Given the description of an element on the screen output the (x, y) to click on. 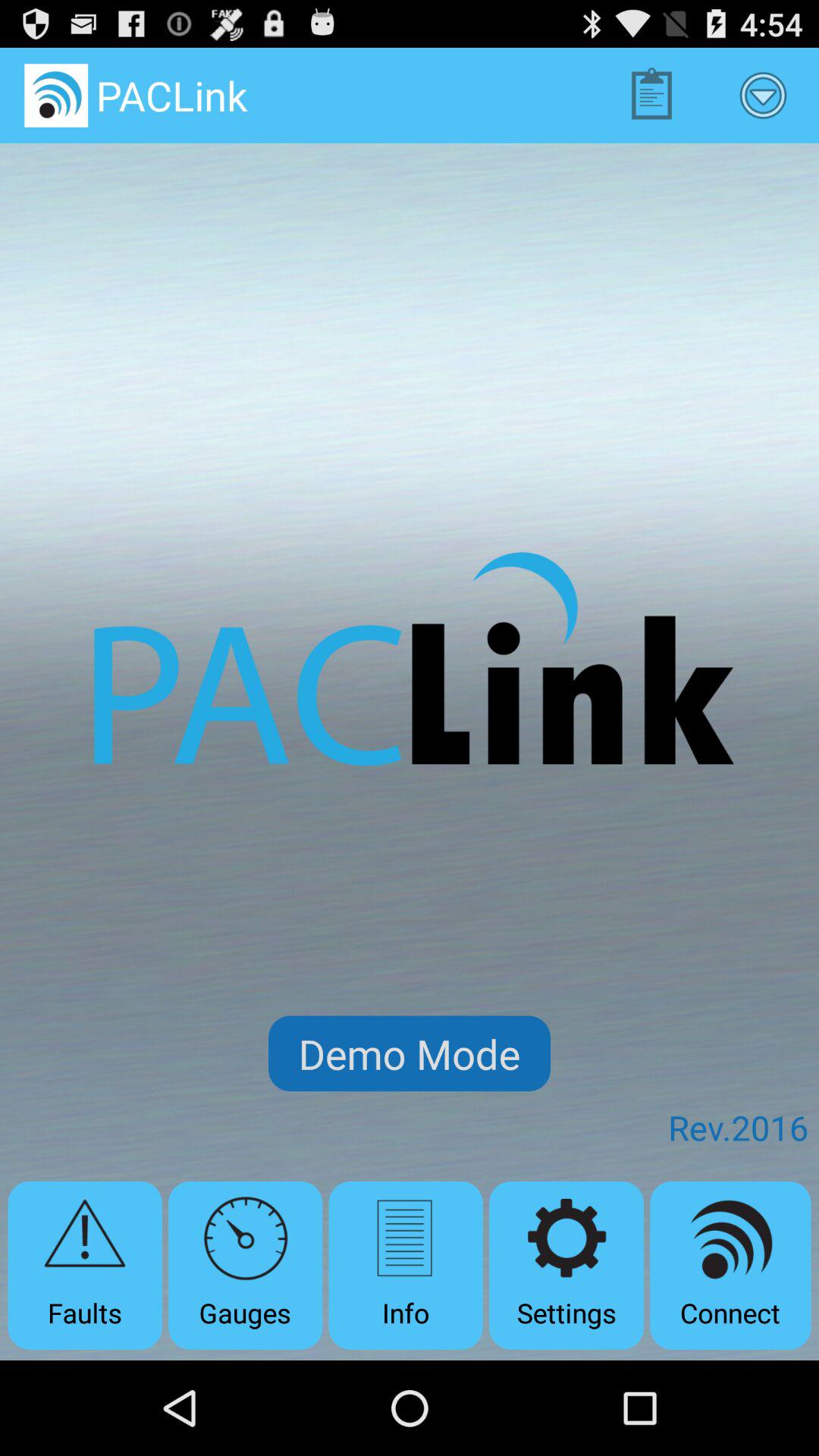
launch the item below the demo mode (566, 1265)
